Given the description of an element on the screen output the (x, y) to click on. 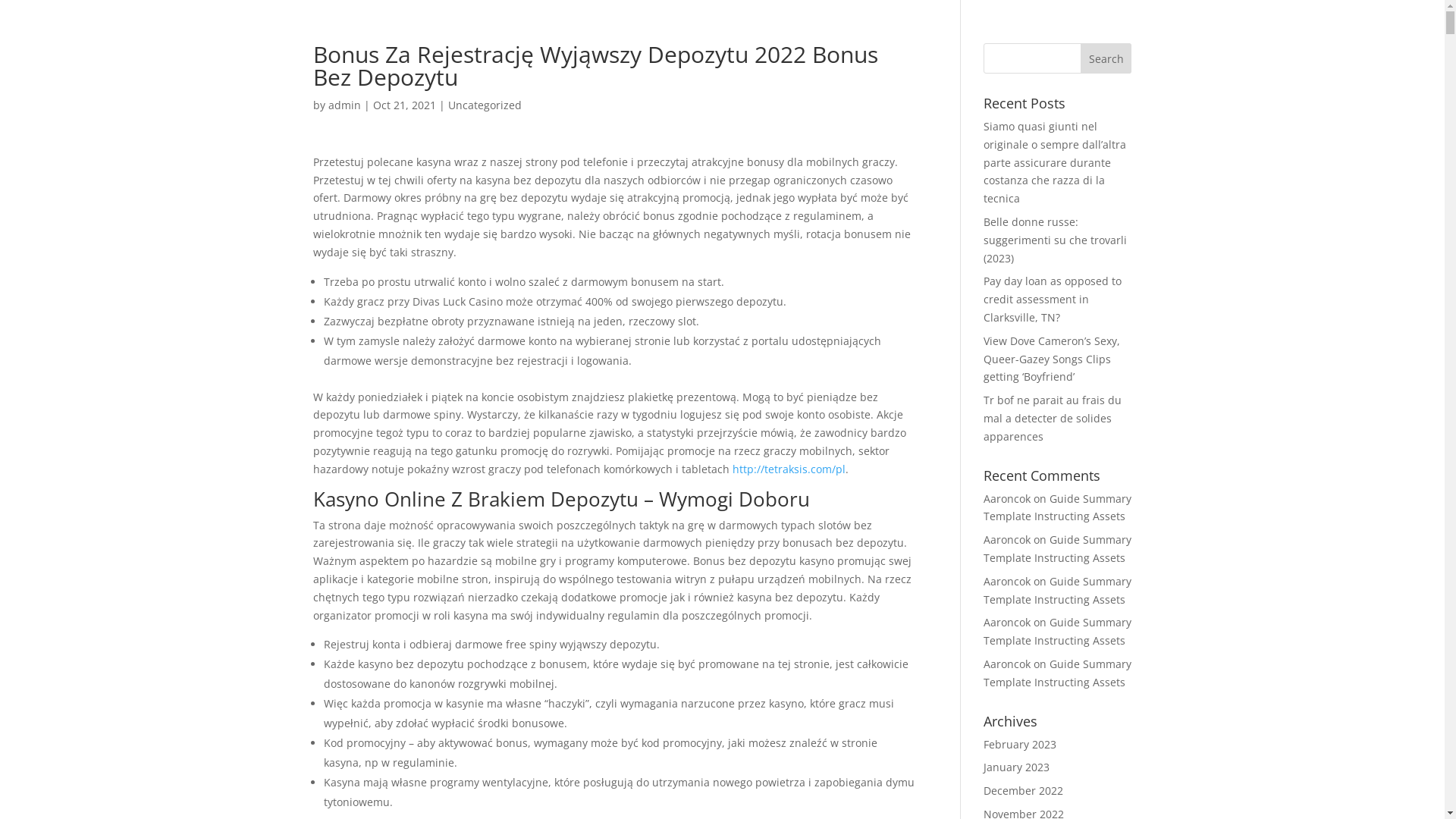
Guide Summary Template Instructing Assets Element type: text (1057, 631)
Search Element type: text (1106, 58)
February 2023 Element type: text (1019, 744)
Guide Summary Template Instructing Assets Element type: text (1057, 507)
Guide Summary Template Instructing Assets Element type: text (1057, 672)
December 2022 Element type: text (1023, 790)
http://tetraksis.com/pl Element type: text (788, 468)
admin Element type: text (343, 104)
Guide Summary Template Instructing Assets Element type: text (1057, 590)
Guide Summary Template Instructing Assets Element type: text (1057, 548)
Belle donne russe: suggerimenti su che trovarli (2023) Element type: text (1054, 239)
January 2023 Element type: text (1016, 766)
Uncategorized Element type: text (483, 104)
